Given the description of an element on the screen output the (x, y) to click on. 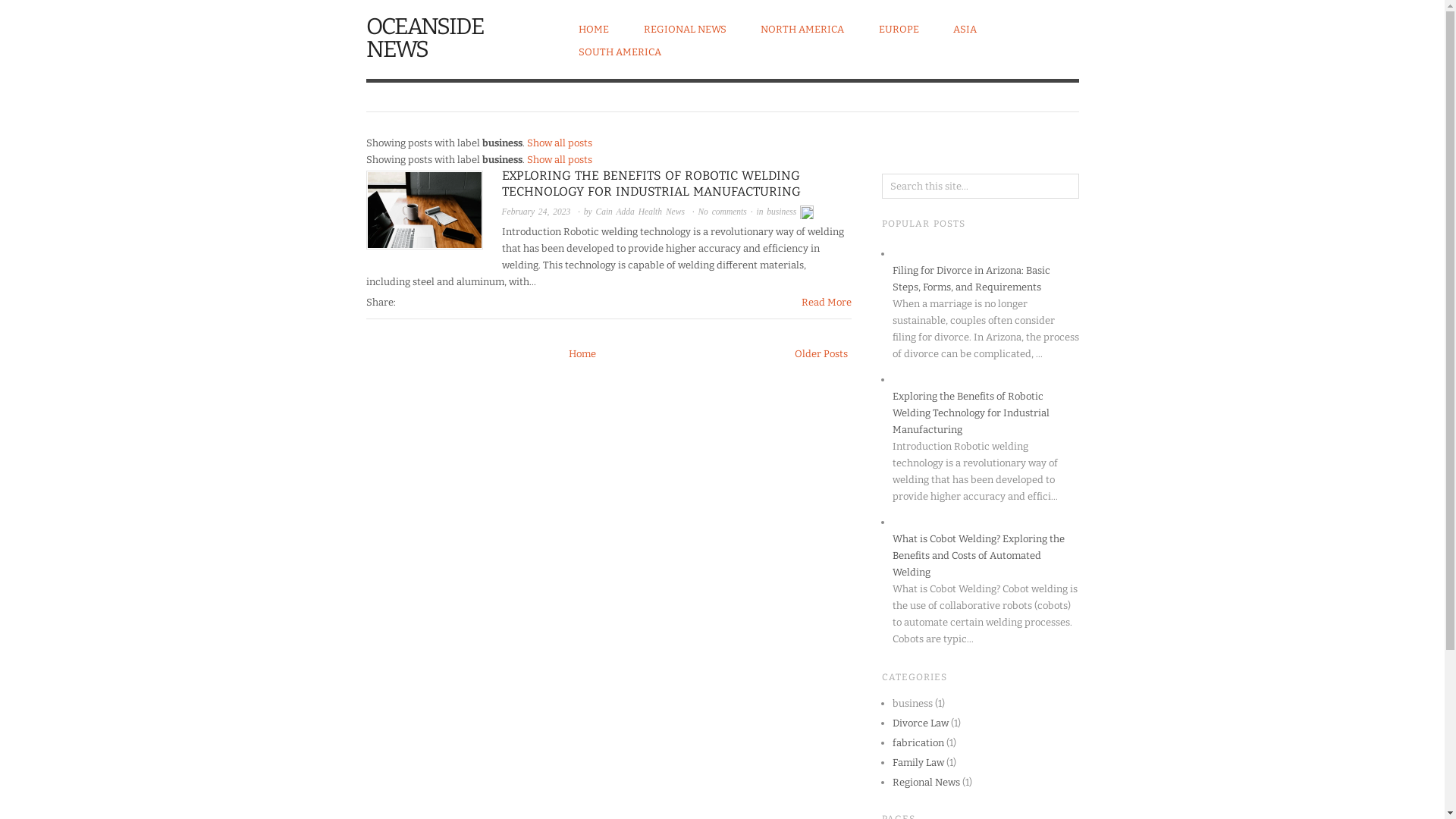
NORTH AMERICA Element type: text (802, 29)
Older Posts Element type: text (820, 353)
Share this on Facebook Element type: hover (399, 301)
Show all posts Element type: text (558, 159)
Divorce Law Element type: text (919, 722)
Share this on Google+ Element type: hover (414, 301)
SOUTH AMERICA Element type: text (619, 51)
EUROPE Element type: text (898, 29)
Regional News Element type: text (925, 781)
Read More Element type: text (825, 301)
Share this on Linkedin Element type: hover (429, 301)
fabrication Element type: text (917, 742)
Family Law Element type: text (917, 762)
No comments Element type: text (723, 211)
Cain Adda Health News Element type: text (639, 211)
Edit Post Element type: hover (806, 211)
ASIA Element type: text (964, 29)
February 24, 2023 Element type: text (536, 211)
Tweet This! Element type: hover (407, 301)
Show all posts Element type: text (558, 142)
HOME Element type: text (593, 29)
OCEANSIDE NEWS Element type: text (424, 37)
REGIONAL NEWS Element type: text (684, 29)
business Element type: text (781, 211)
Home Element type: text (582, 353)
Share on Pinterest Element type: hover (422, 301)
Search Element type: text (25, 12)
